Given the description of an element on the screen output the (x, y) to click on. 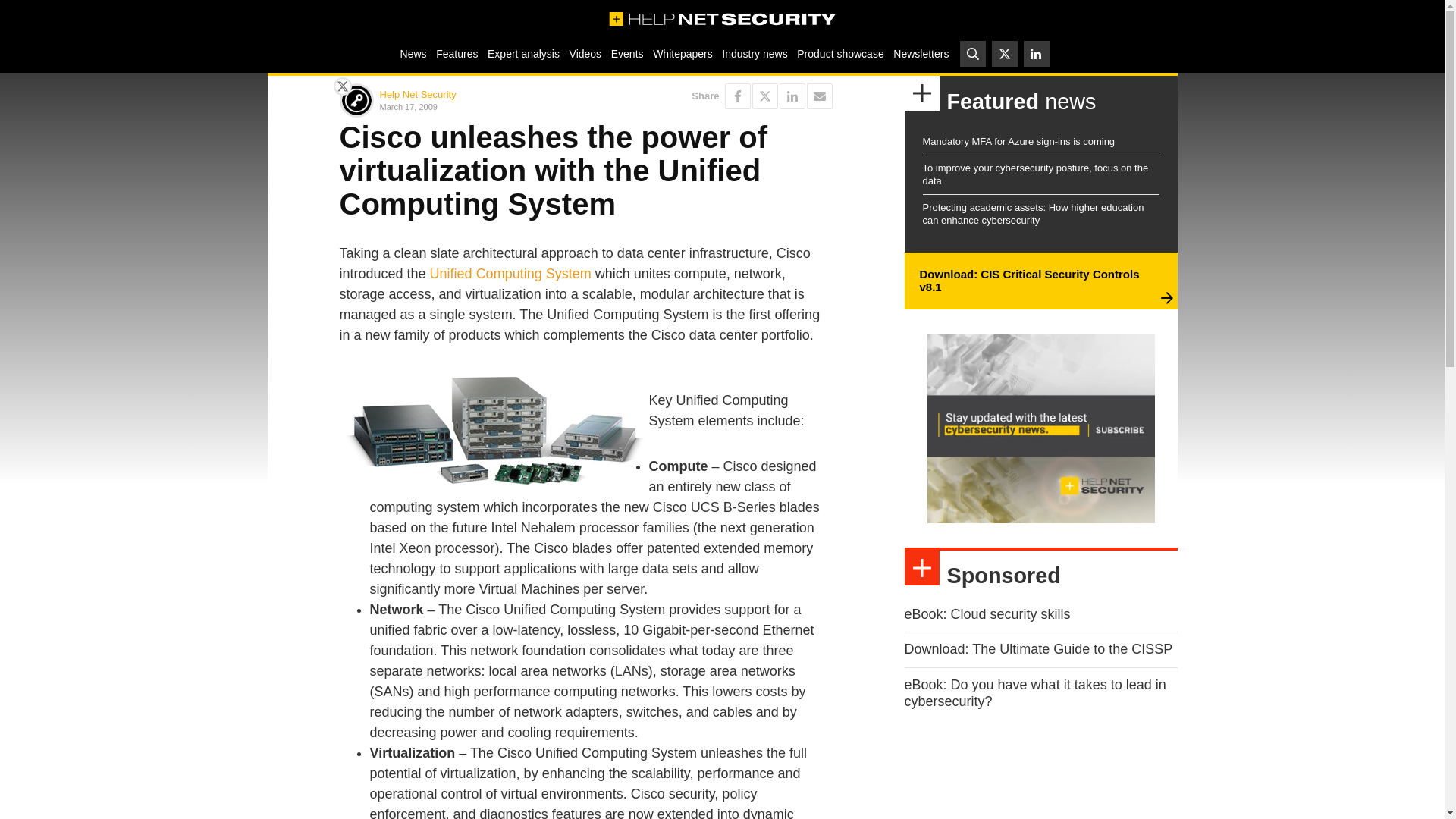
To improve your cybersecurity posture, focus on the data (1034, 174)
eBook: Do you have what it takes to lead in cybersecurity? (1035, 693)
Download: The Ultimate Guide to the CISSP (1038, 648)
Unified Computing System (510, 273)
Whitepapers (682, 53)
Mandatory MFA for Azure sign-ins is coming (1018, 141)
Product showcase (840, 53)
Videos (584, 53)
